Given the description of an element on the screen output the (x, y) to click on. 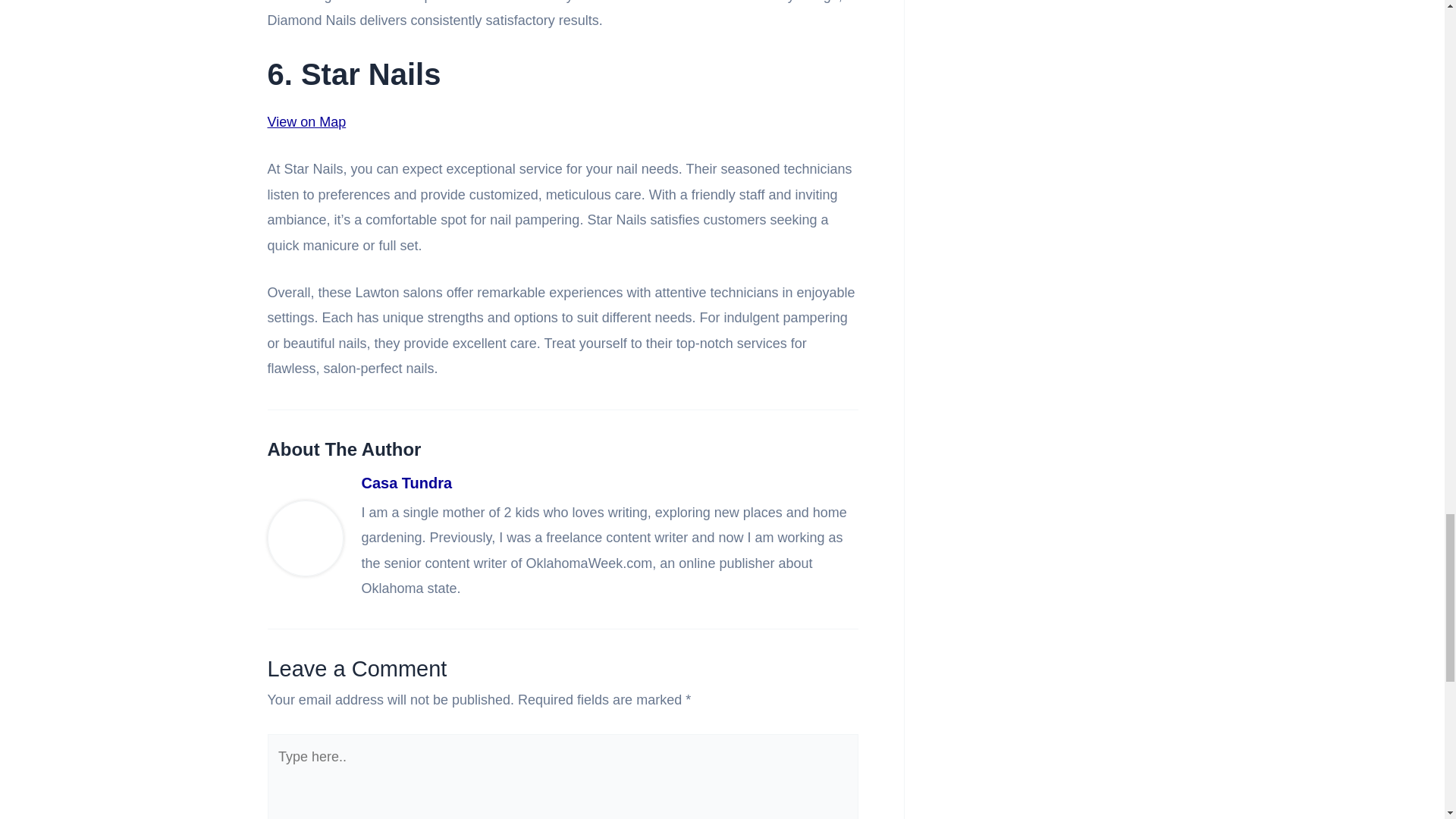
View on Map (306, 121)
Casa Tundra (609, 484)
